Given the description of an element on the screen output the (x, y) to click on. 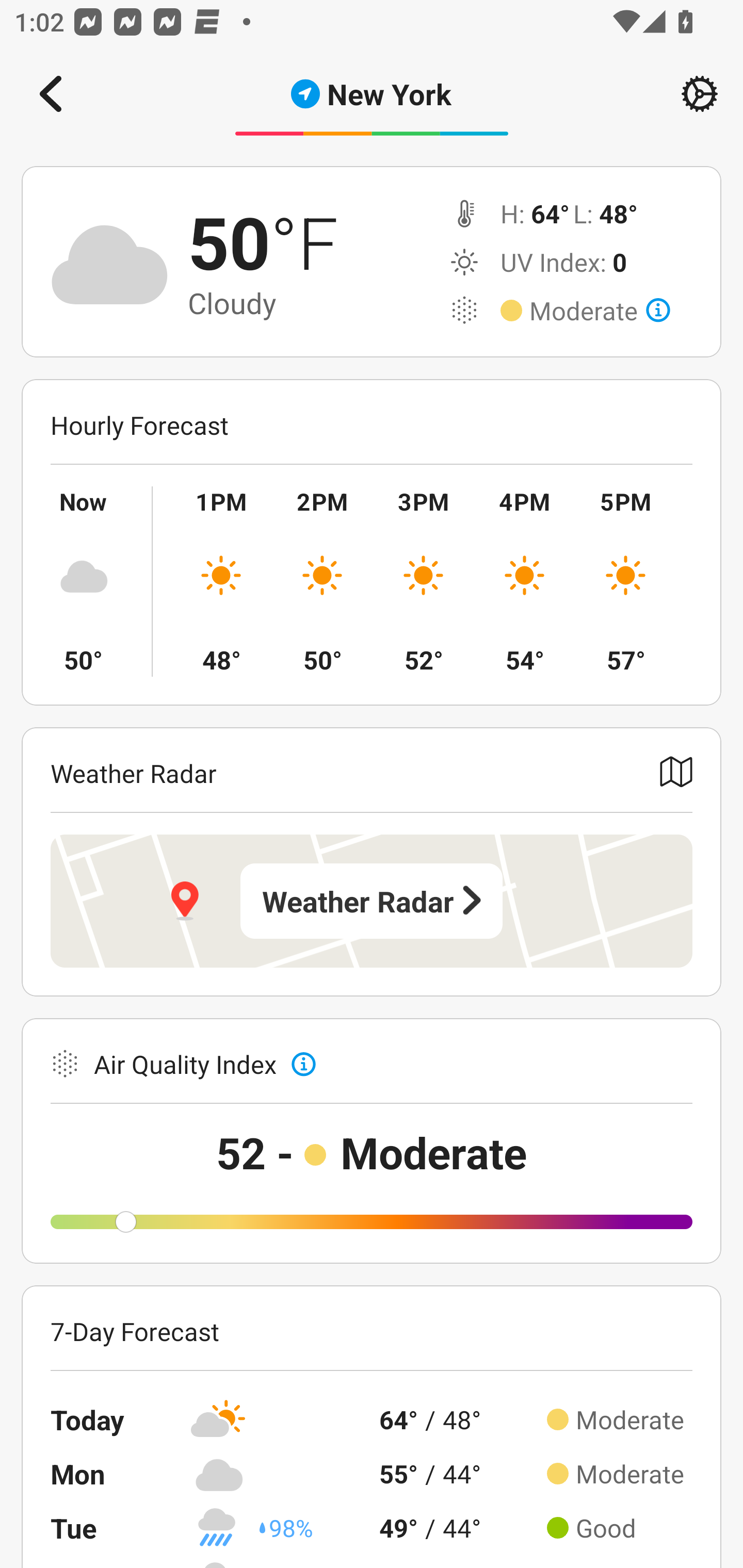
Navigate up (50, 93)
Setting (699, 93)
Moderate (599, 310)
Weather Radar (371, 900)
